Given the description of an element on the screen output the (x, y) to click on. 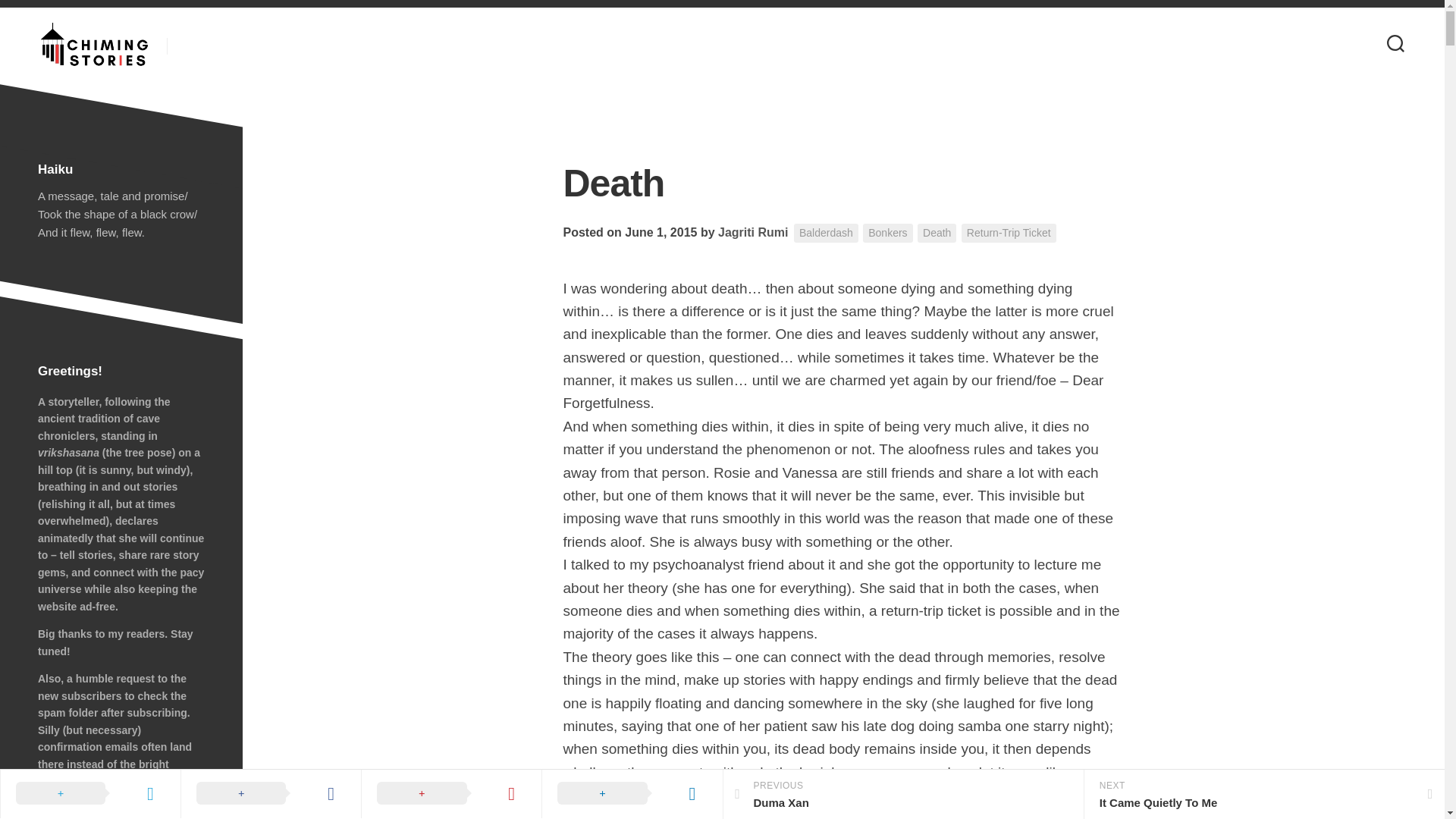
Return-Trip Ticket (1008, 232)
Bonkers (902, 794)
Share on LinkedIn (887, 232)
Share on Pinterest (631, 793)
Balderdash (451, 793)
Posts by Jagriti Rumi (826, 232)
Jagriti Rumi (752, 232)
Share on Facebook (752, 232)
Death (270, 793)
